Given the description of an element on the screen output the (x, y) to click on. 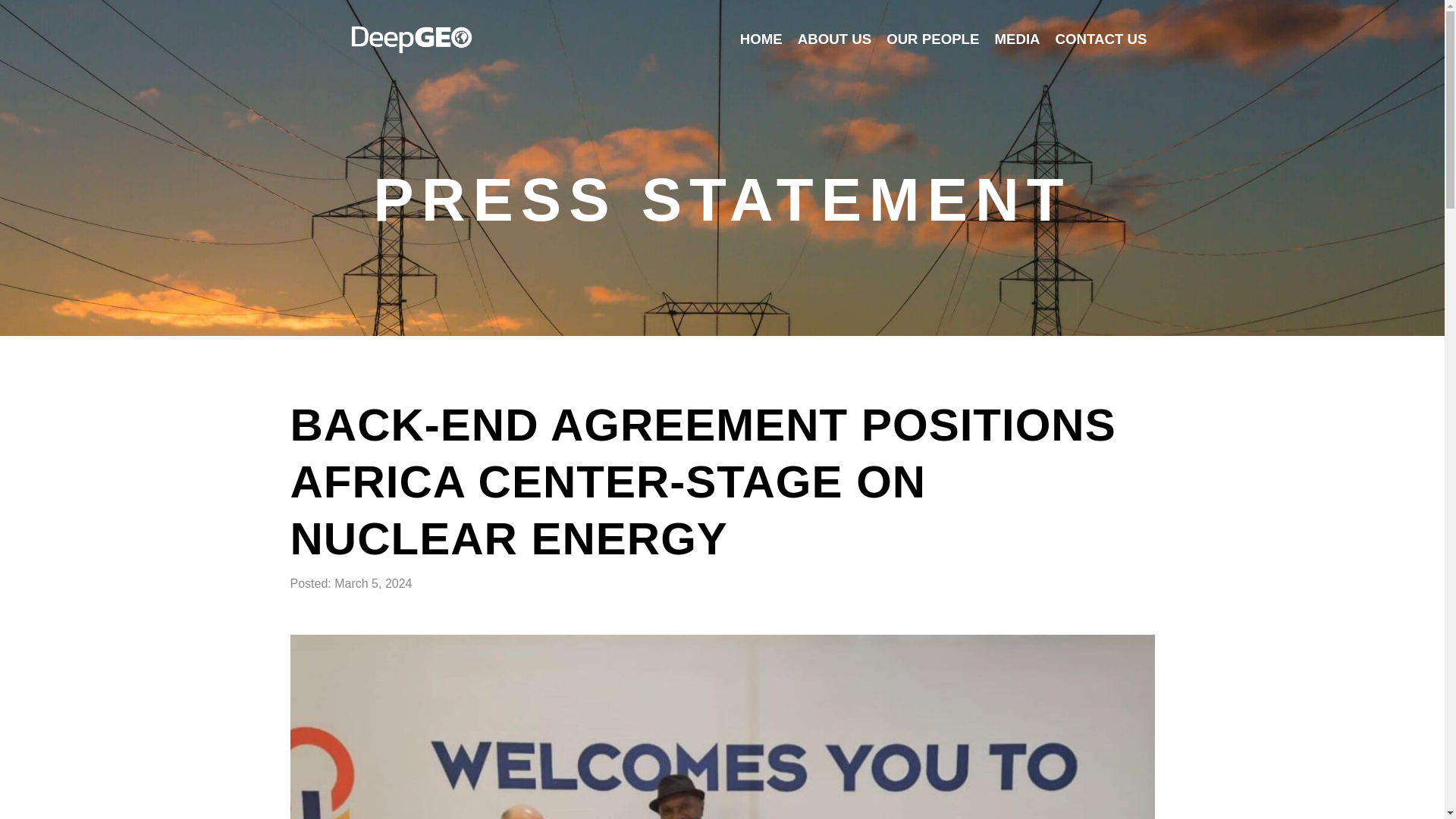
ABOUT US (834, 39)
OUR PEOPLE (933, 39)
DeepGEO Logo (411, 39)
MEDIA (1016, 39)
HOME (761, 39)
CONTACT US (1101, 39)
